Given the description of an element on the screen output the (x, y) to click on. 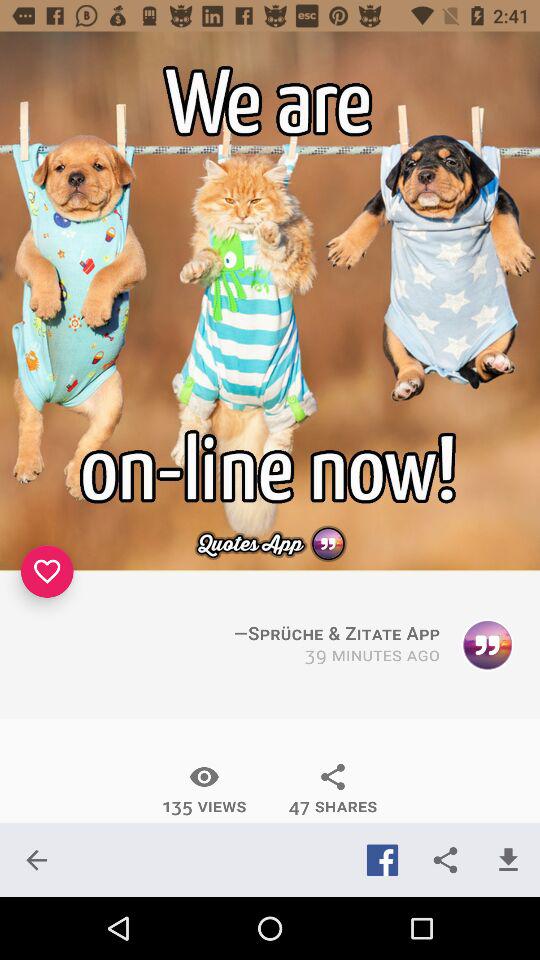
heart post (47, 571)
